Given the description of an element on the screen output the (x, y) to click on. 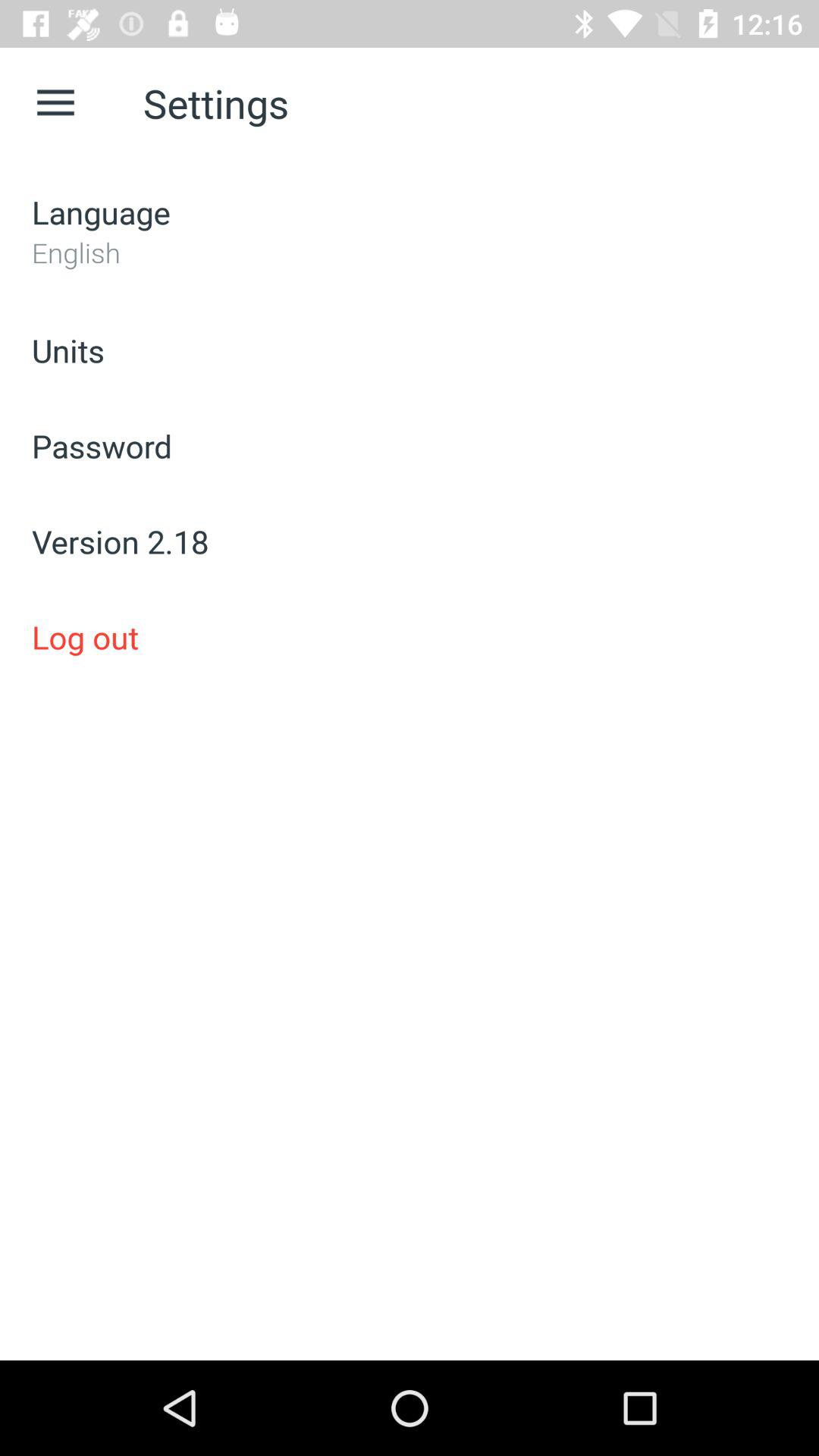
swipe until units (409, 350)
